Given the description of an element on the screen output the (x, y) to click on. 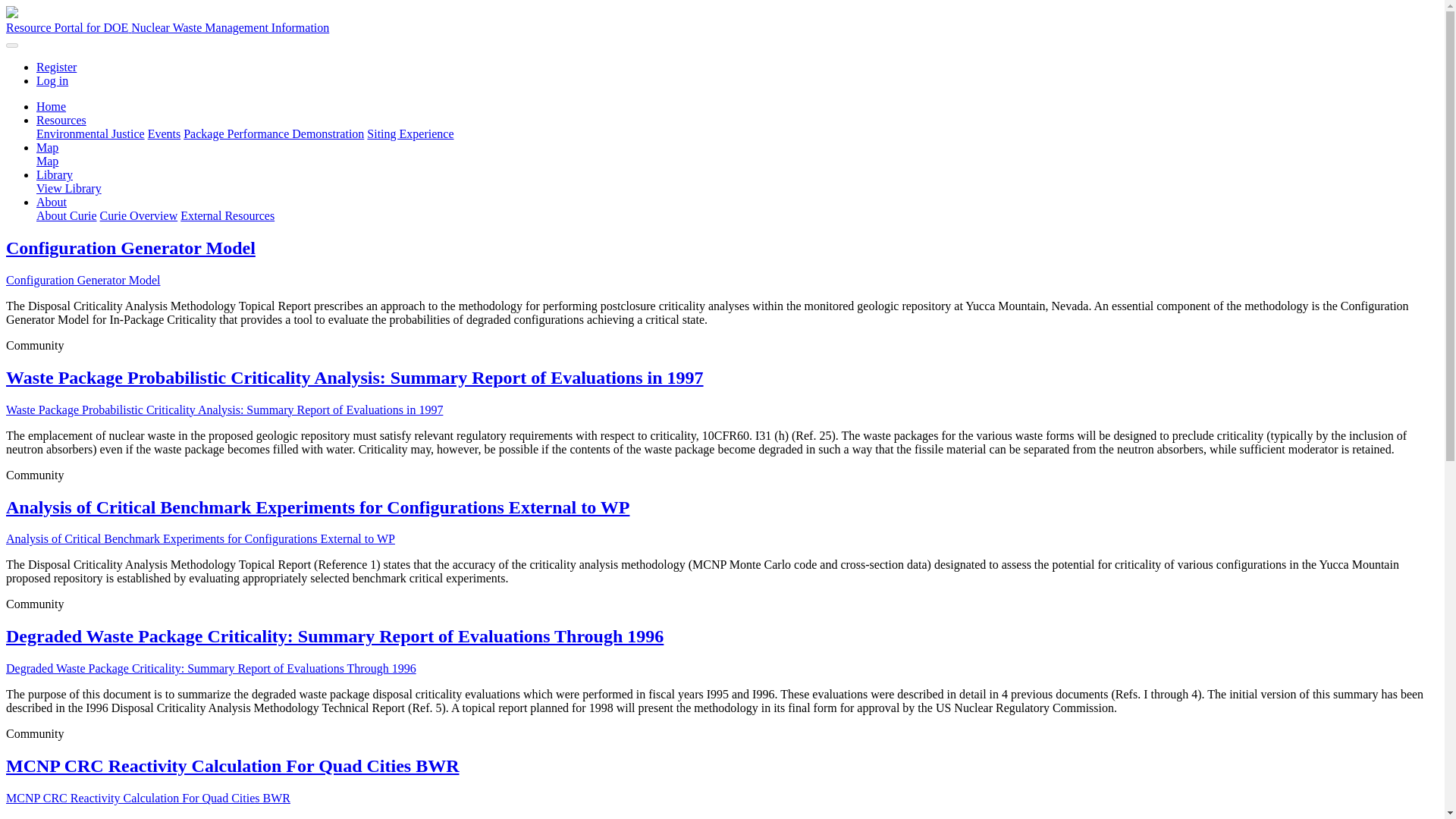
Events (164, 133)
Home (50, 106)
Environmental Justice (90, 133)
Register (56, 66)
Configuration Generator Model (130, 247)
MCNP CRC Reactivity Calculation For Quad Cities BWR (232, 765)
Map (47, 146)
About (51, 201)
Configuration Generator Model (82, 279)
Library (54, 174)
